Given the description of an element on the screen output the (x, y) to click on. 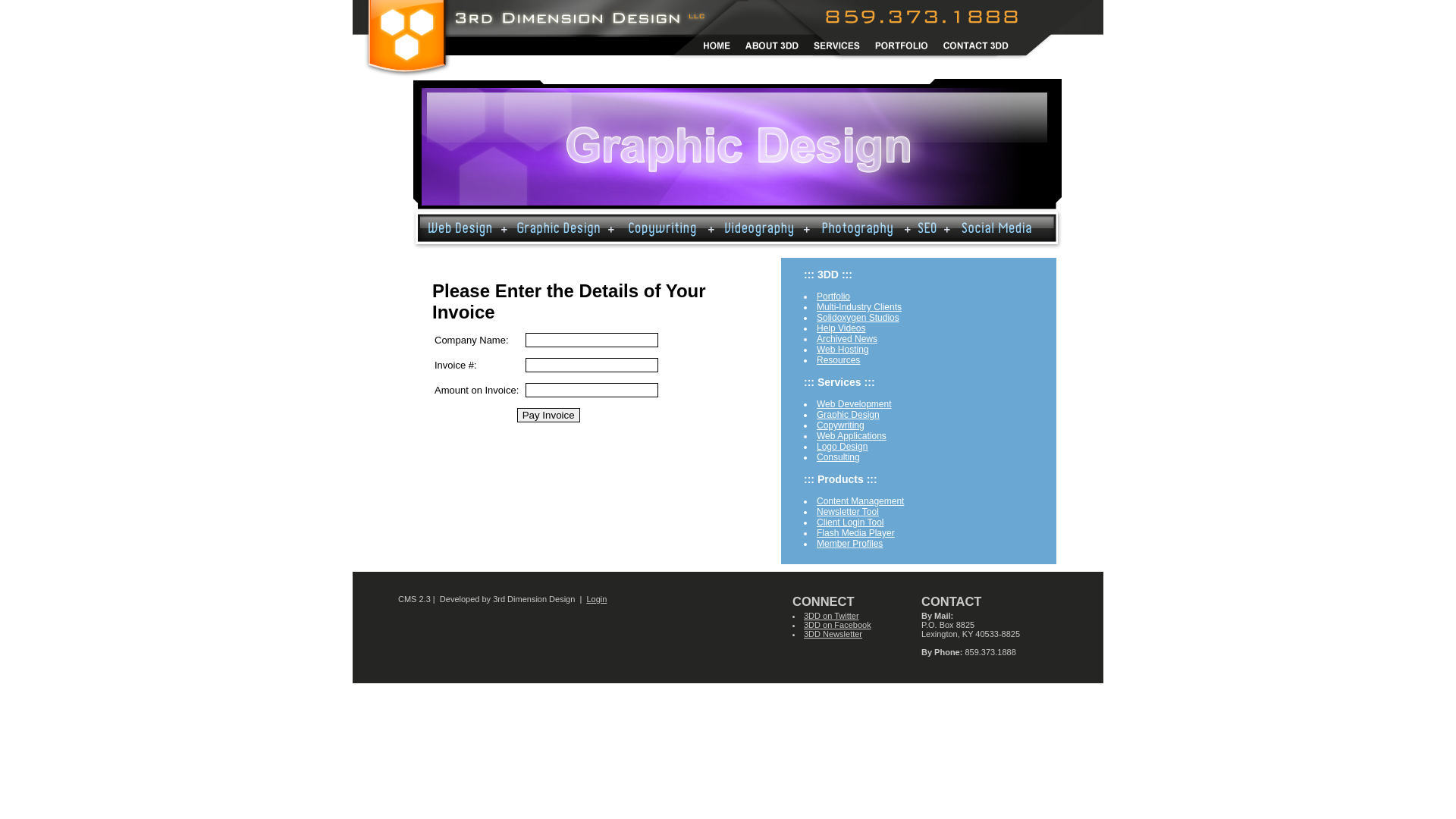
Client Login Tool Element type: text (850, 522)
Newsletter Tool Element type: text (847, 511)
Consulting Element type: text (837, 456)
Web Applications Element type: text (851, 435)
3DD on Facebook Element type: text (837, 624)
Web Hosting Element type: text (842, 349)
Archived News Element type: text (846, 338)
Content Management Element type: text (859, 500)
Resources Element type: text (837, 359)
Login Element type: text (596, 598)
Multi-Industry Clients Element type: text (858, 306)
Flash Media Player Element type: text (855, 532)
Web Development Element type: text (853, 403)
3DD Newsletter Element type: text (832, 633)
Member Profiles Element type: text (849, 543)
Solidoxygen Studios Element type: text (857, 317)
3DD on Twitter Element type: text (831, 615)
Pay Invoice Element type: text (548, 414)
Graphic Design Element type: text (847, 414)
Help Videos Element type: text (841, 328)
Copywriting Element type: text (840, 425)
Portfolio Element type: text (833, 296)
Logo Design Element type: text (841, 446)
